Given the description of an element on the screen output the (x, y) to click on. 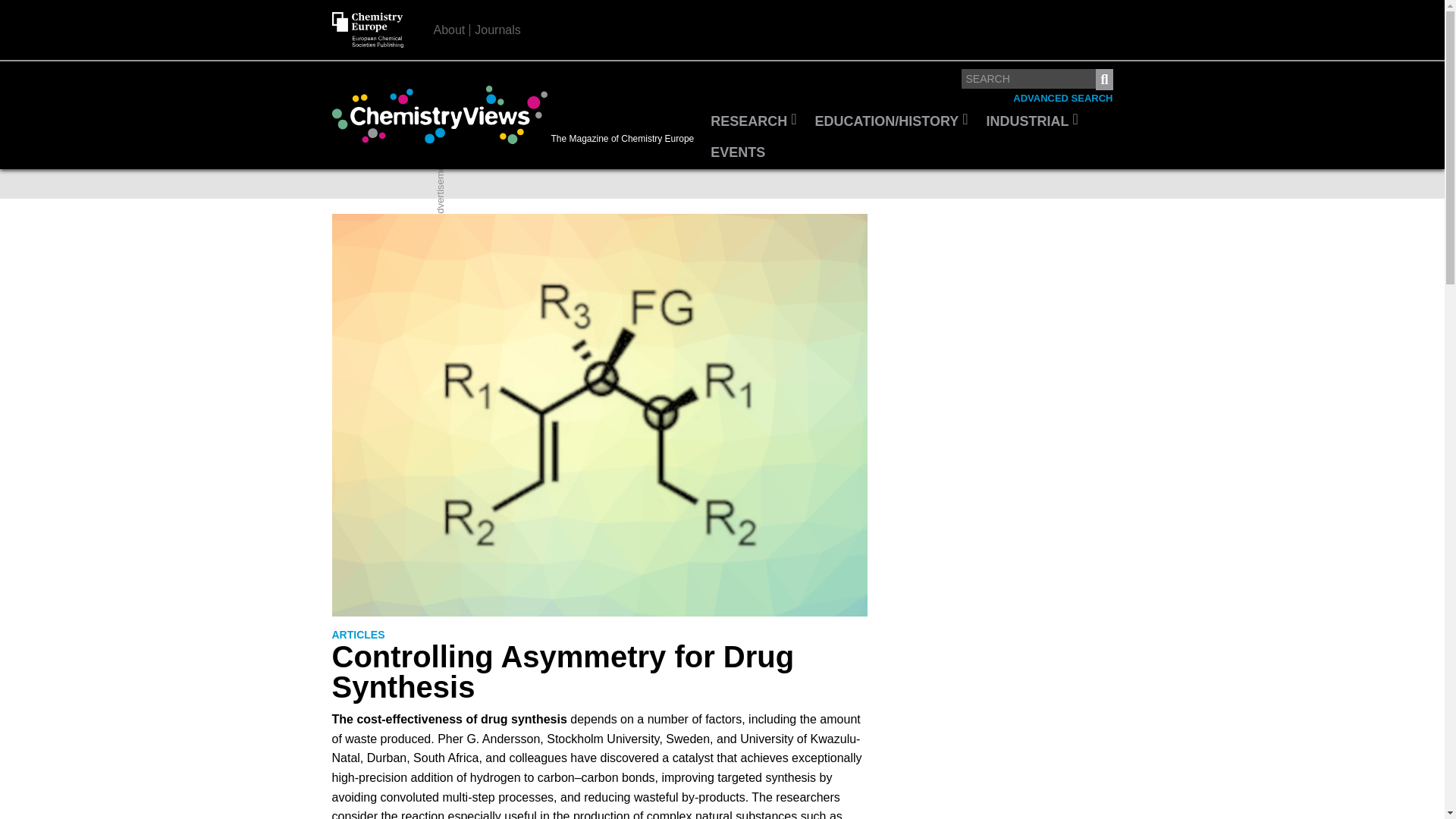
EVENTS (737, 152)
The Magazine of Chemistry Europe (516, 114)
ADVANCED SEARCH (1062, 98)
About (449, 29)
Journals (496, 29)
RESEARCH (753, 122)
INDUSTRIAL (1031, 122)
ARTICLES (358, 634)
